Given the description of an element on the screen output the (x, y) to click on. 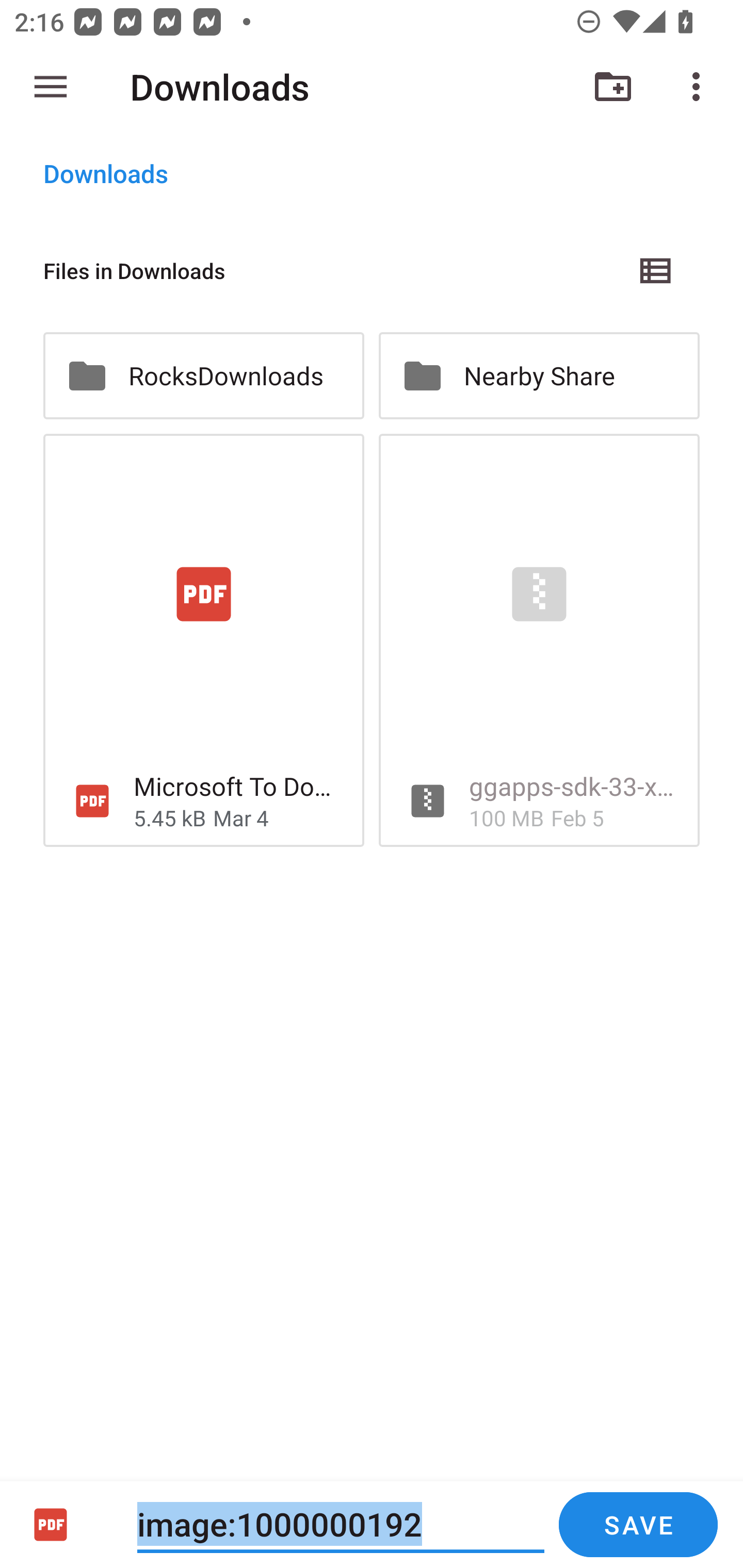
Show roots (50, 86)
New folder (612, 86)
More options (699, 86)
List view (655, 270)
RocksDownloads (203, 375)
Nearby Share (538, 375)
Microsoft To DoFlight Booking.pdf 5.45 kB Mar 4 (203, 640)
ggapps-sdk-33-x86_64-20231003.zip 100 MB Feb 5 (538, 640)
SAVE (637, 1524)
image:1000000192 (340, 1523)
